Given the description of an element on the screen output the (x, y) to click on. 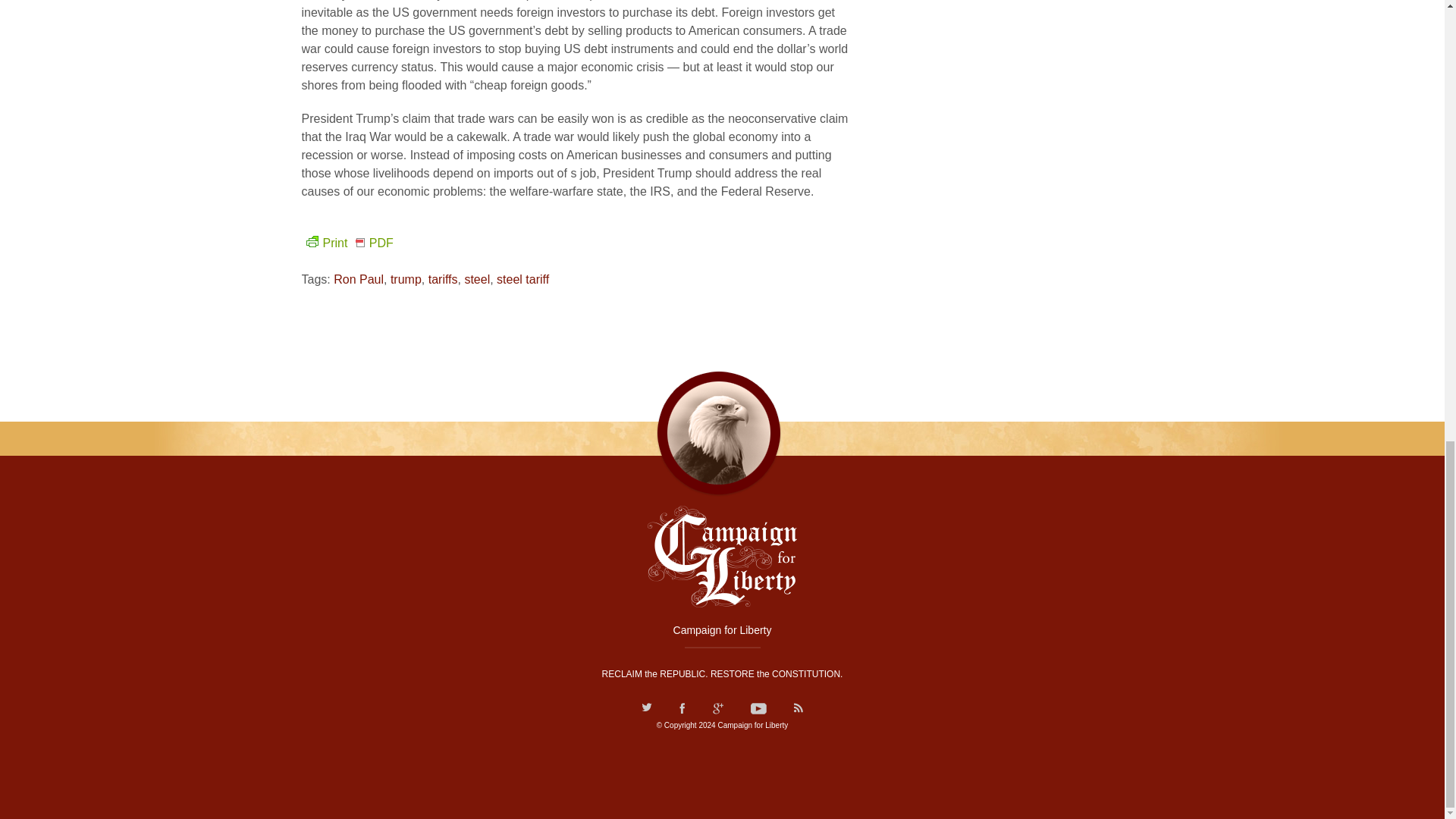
steel (476, 278)
Ron Paul (358, 278)
Printer Friendly and PDF (347, 242)
tariffs (443, 278)
Print PDF (347, 242)
trump (406, 278)
steel tariff (522, 278)
